Given the description of an element on the screen output the (x, y) to click on. 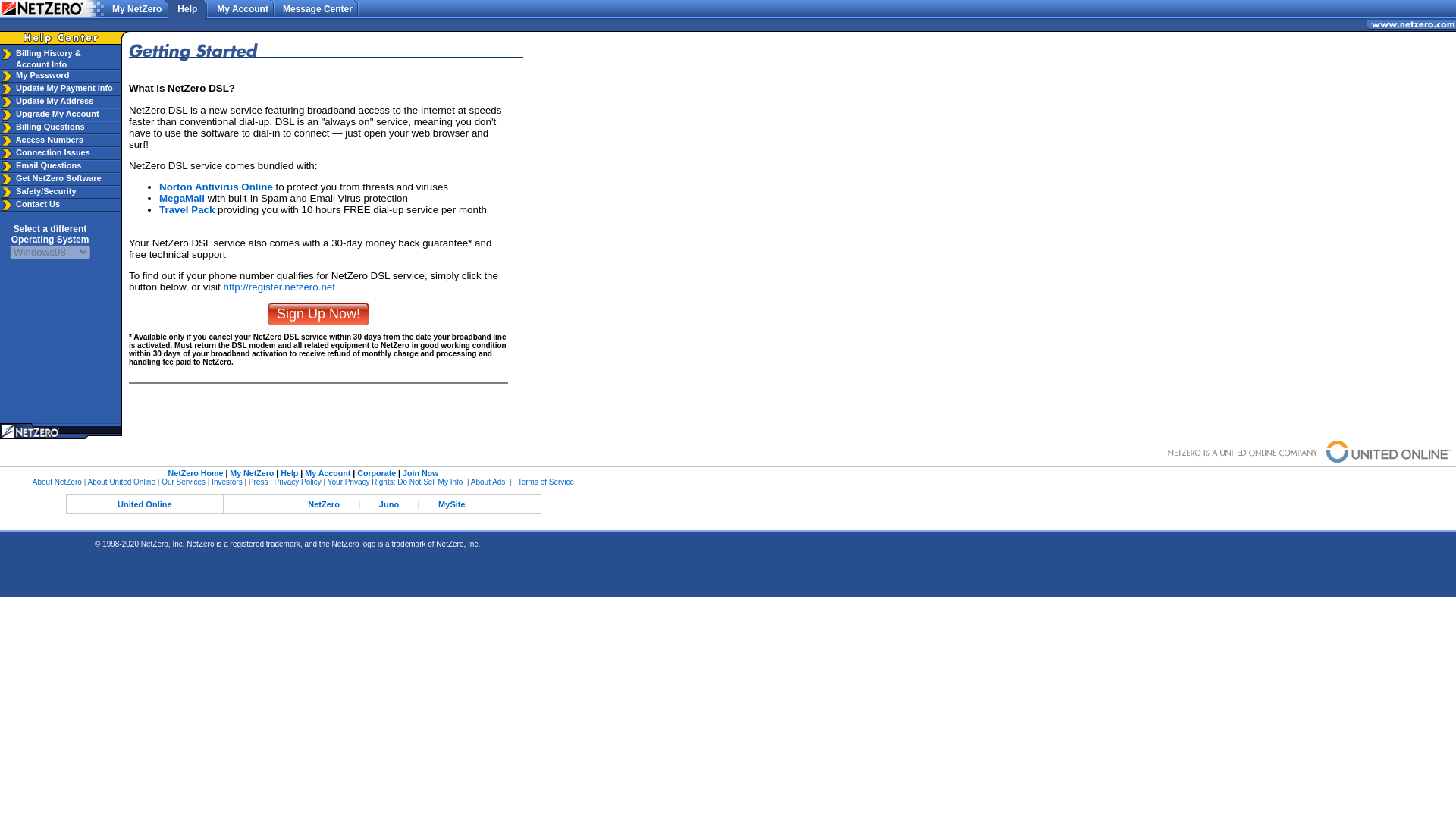
 Update My Address (53, 100)
Help (289, 472)
 Connection Issues (51, 152)
Travel Pack (186, 209)
Help (191, 9)
Corporate (376, 472)
Your Privacy Rights: Do Not Sell My Info (395, 481)
 My Password (49, 233)
Investors (40, 74)
 Update My Payment Info (227, 481)
My NetZero (63, 87)
My NetZero (141, 9)
Privacy Policy (251, 472)
Sign Up Now! (298, 481)
